Given the description of an element on the screen output the (x, y) to click on. 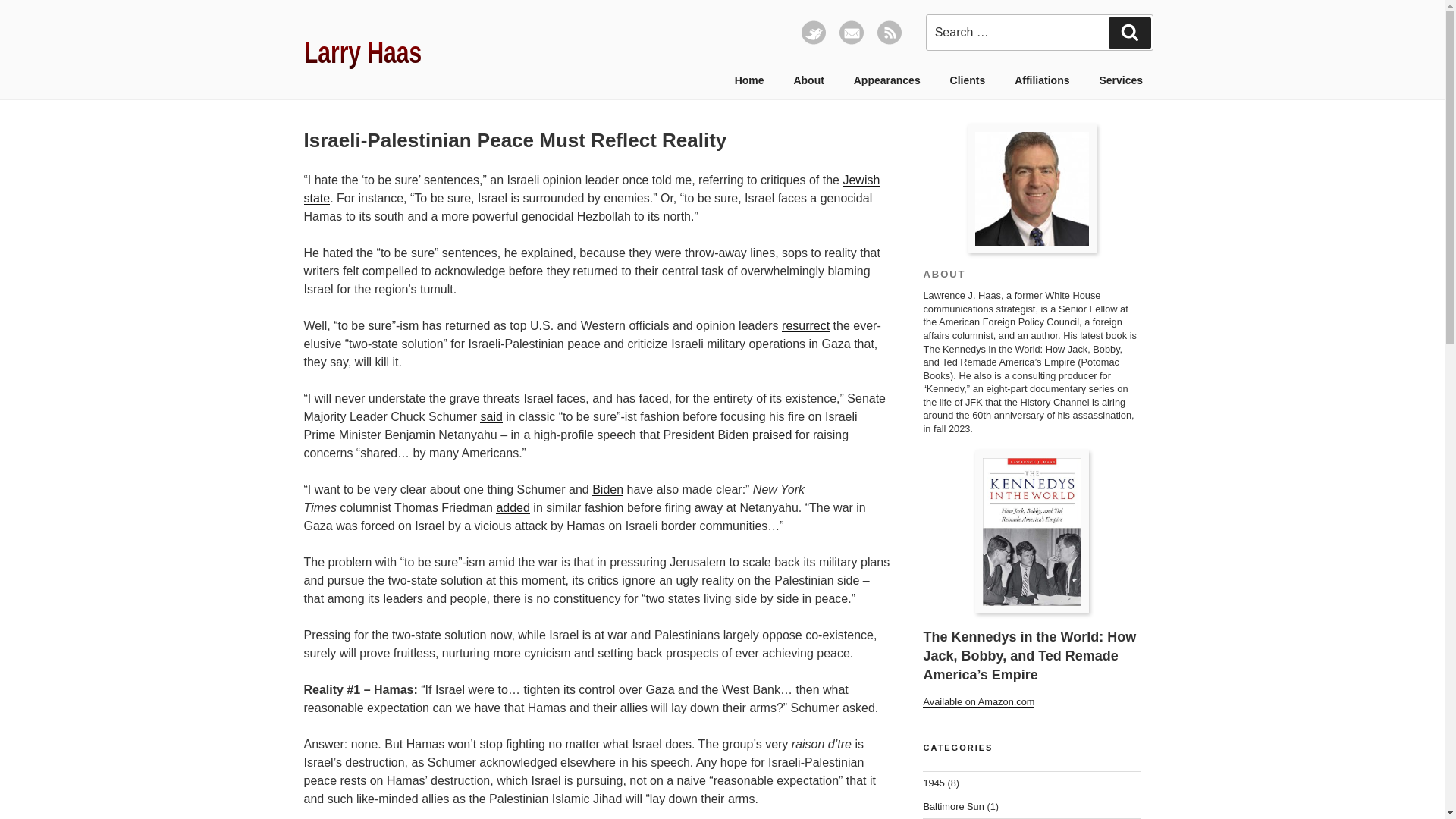
Appearances (886, 80)
RSS (889, 40)
resurrect (805, 325)
praised (772, 434)
Biden (607, 489)
1945 (933, 782)
Larry Haas (1032, 188)
Affiliations (1042, 80)
said (491, 416)
Search (1129, 32)
